Given the description of an element on the screen output the (x, y) to click on. 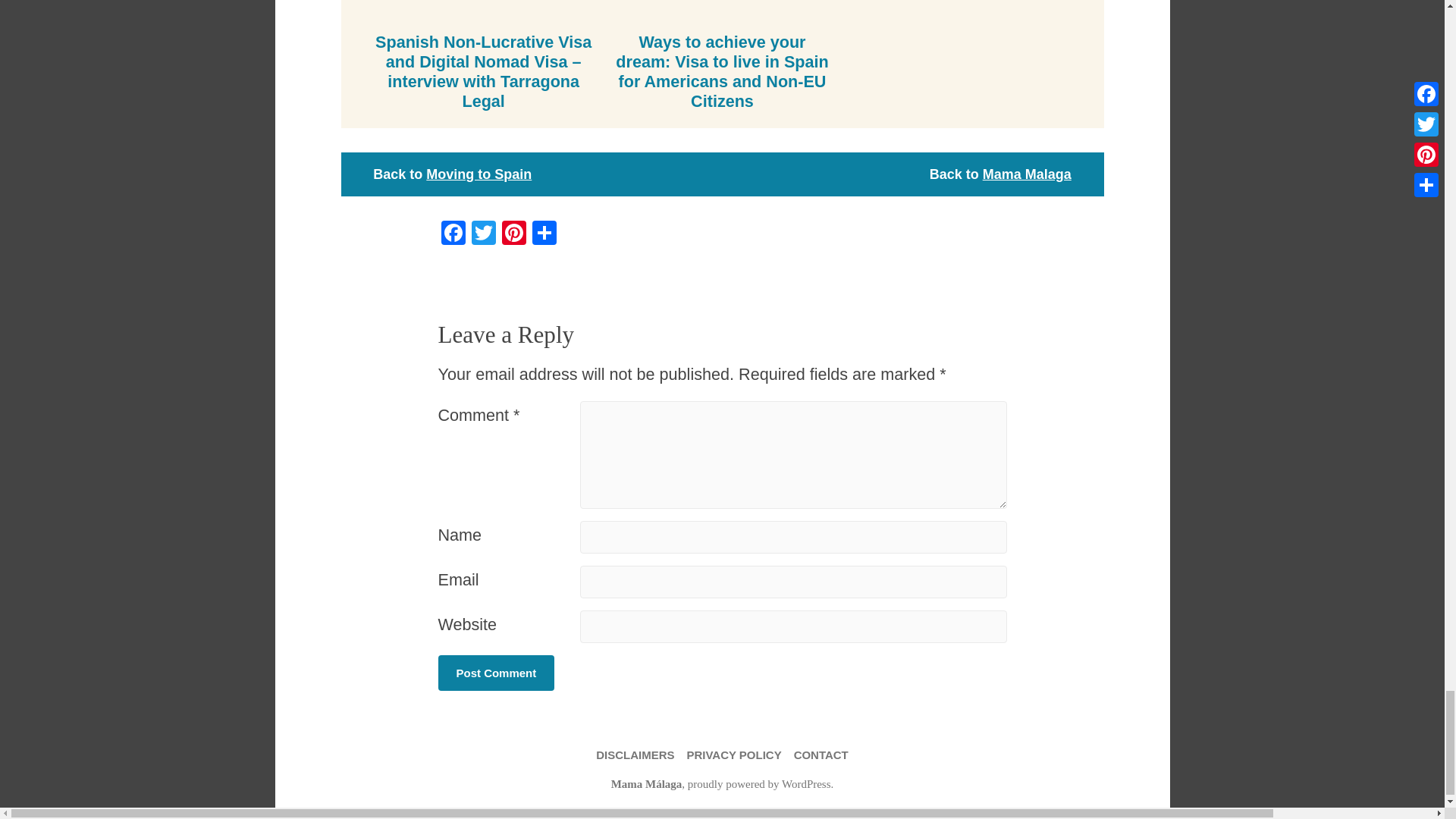
Pinterest (514, 234)
proudly powered by WordPress (759, 784)
Post Comment (496, 673)
Facebook (453, 234)
Share (544, 234)
Post Comment (496, 673)
Twitter (483, 234)
Pinterest (514, 234)
CONTACT (820, 754)
PRIVACY POLICY (733, 754)
Facebook (453, 234)
DISCLAIMERS (634, 754)
Mama Malaga (1026, 174)
Moving to Spain (478, 174)
